Given the description of an element on the screen output the (x, y) to click on. 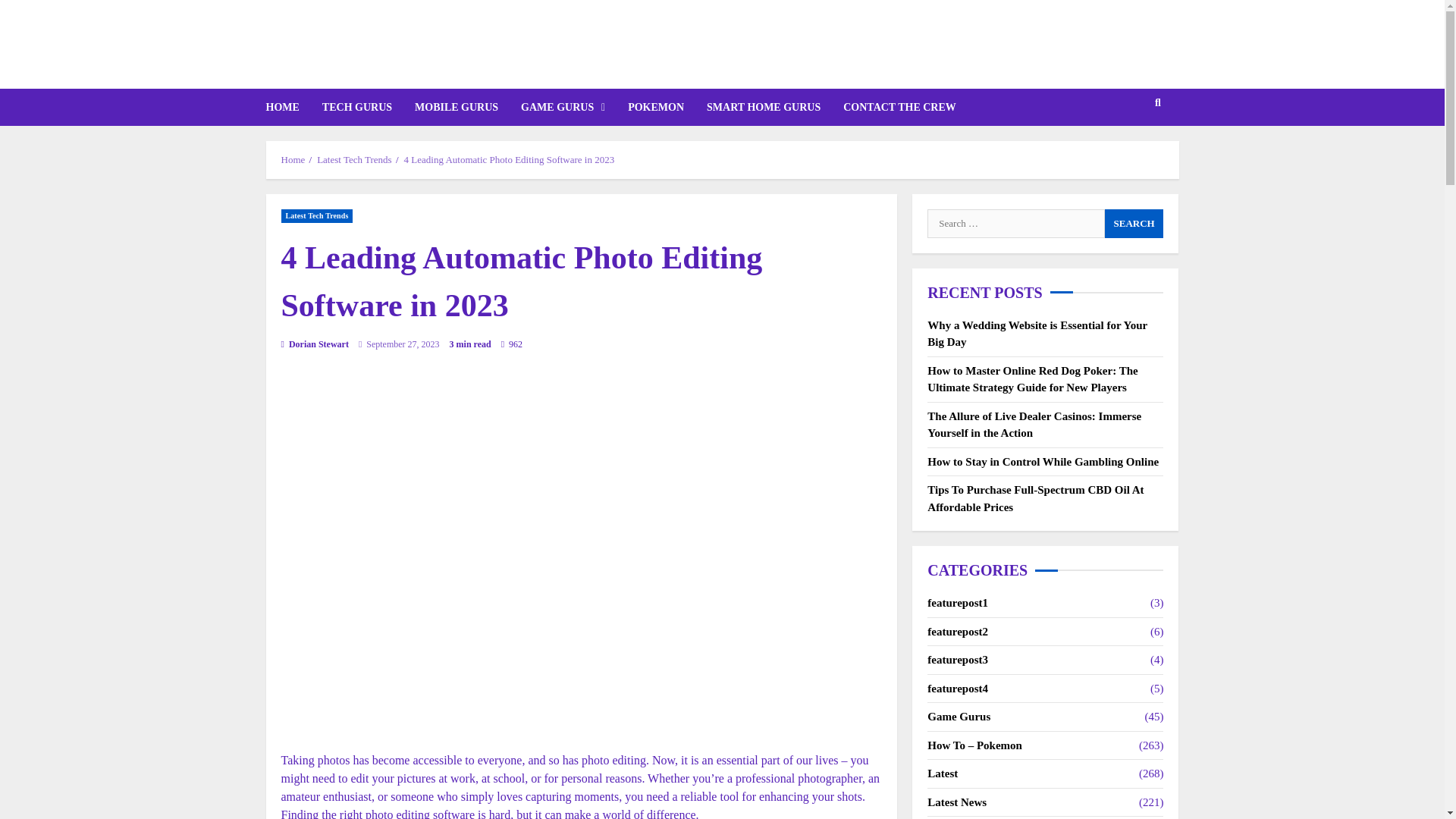
Search (1128, 149)
GAME GURUS (562, 107)
CONTACT THE CREW (893, 107)
POKEMON (655, 107)
Search (1134, 223)
Dorian Stewart (314, 343)
HOME (287, 107)
TECH GURUS (357, 107)
MOBILE GURUS (456, 107)
962 (511, 343)
4 Leading Automatic Photo Editing Software in 2023 (509, 159)
Latest Tech Trends (354, 159)
Search (1134, 223)
Home (292, 159)
Latest Tech Trends (316, 215)
